Given the description of an element on the screen output the (x, y) to click on. 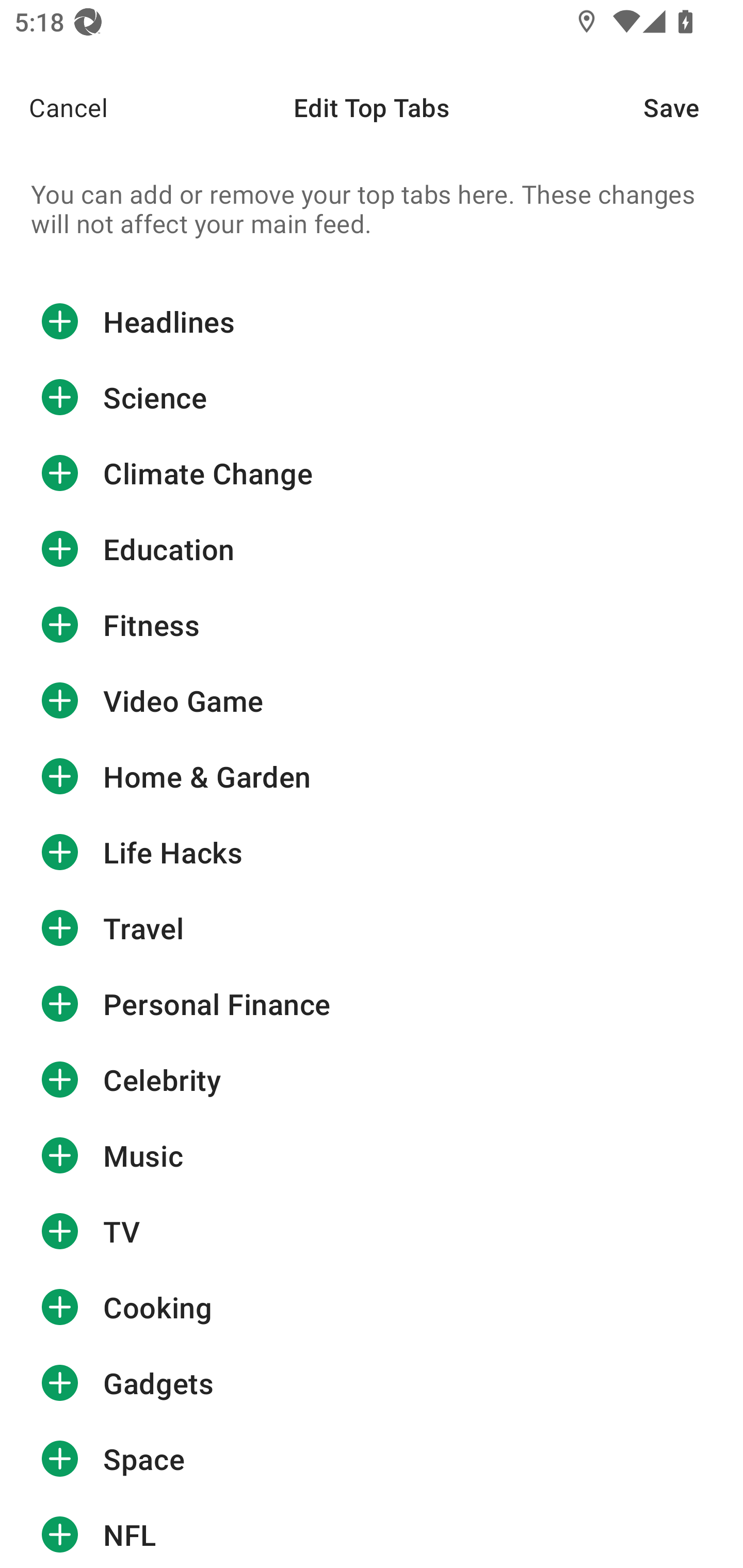
Cancel (53, 106)
Save (693, 106)
Headlines (371, 326)
Science (371, 397)
Climate Change (371, 473)
Education (371, 548)
Fitness (371, 624)
Video Game (371, 700)
Home & Garden (371, 775)
Life Hacks (371, 851)
Travel (371, 927)
Personal Finance (371, 1003)
Celebrity (371, 1079)
Music (371, 1155)
TV (371, 1231)
Cooking (371, 1307)
Gadgets (371, 1382)
Space (371, 1458)
NFL (371, 1532)
